Given the description of an element on the screen output the (x, y) to click on. 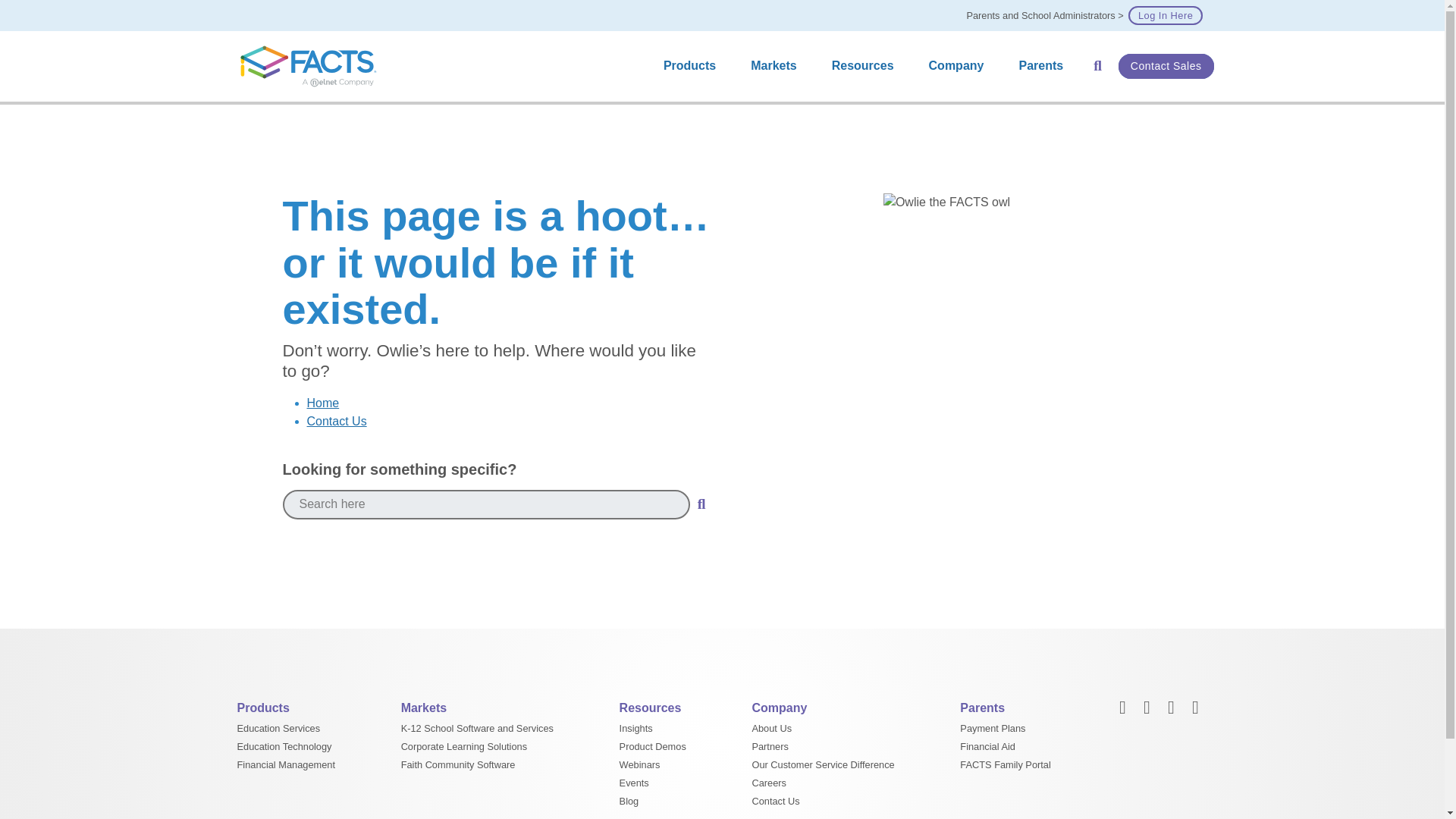
Markets (776, 66)
Company (960, 66)
Products (692, 66)
Resources (866, 66)
Log In Here (1165, 15)
